Given the description of an element on the screen output the (x, y) to click on. 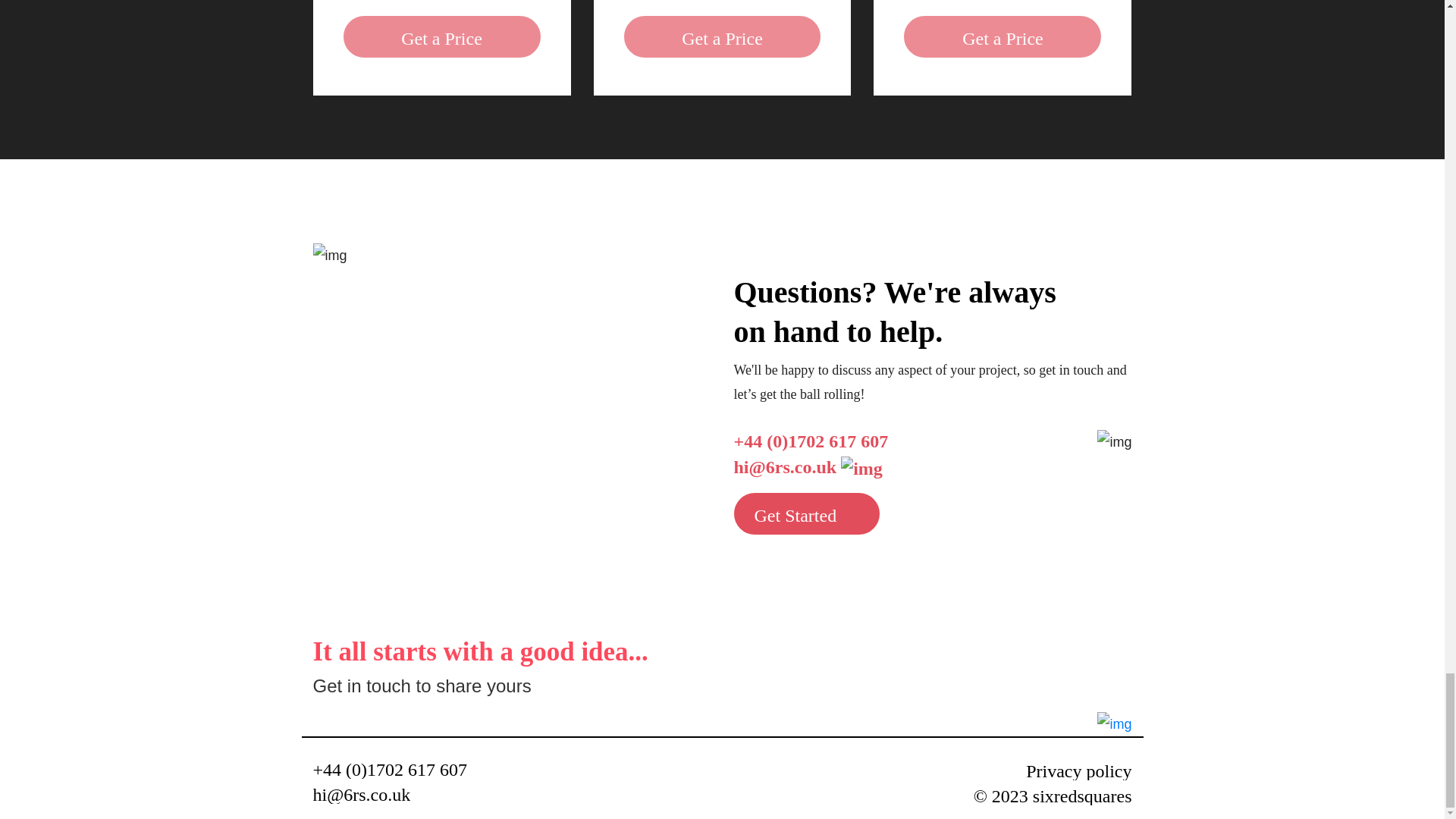
Get a Price (722, 36)
Get a Price (722, 36)
Get in touch to share yours (422, 686)
Get a Price (441, 36)
Get a Price (1002, 36)
Get a Price (441, 36)
Privacy policy (1078, 771)
Get Started (806, 513)
